Given the description of an element on the screen output the (x, y) to click on. 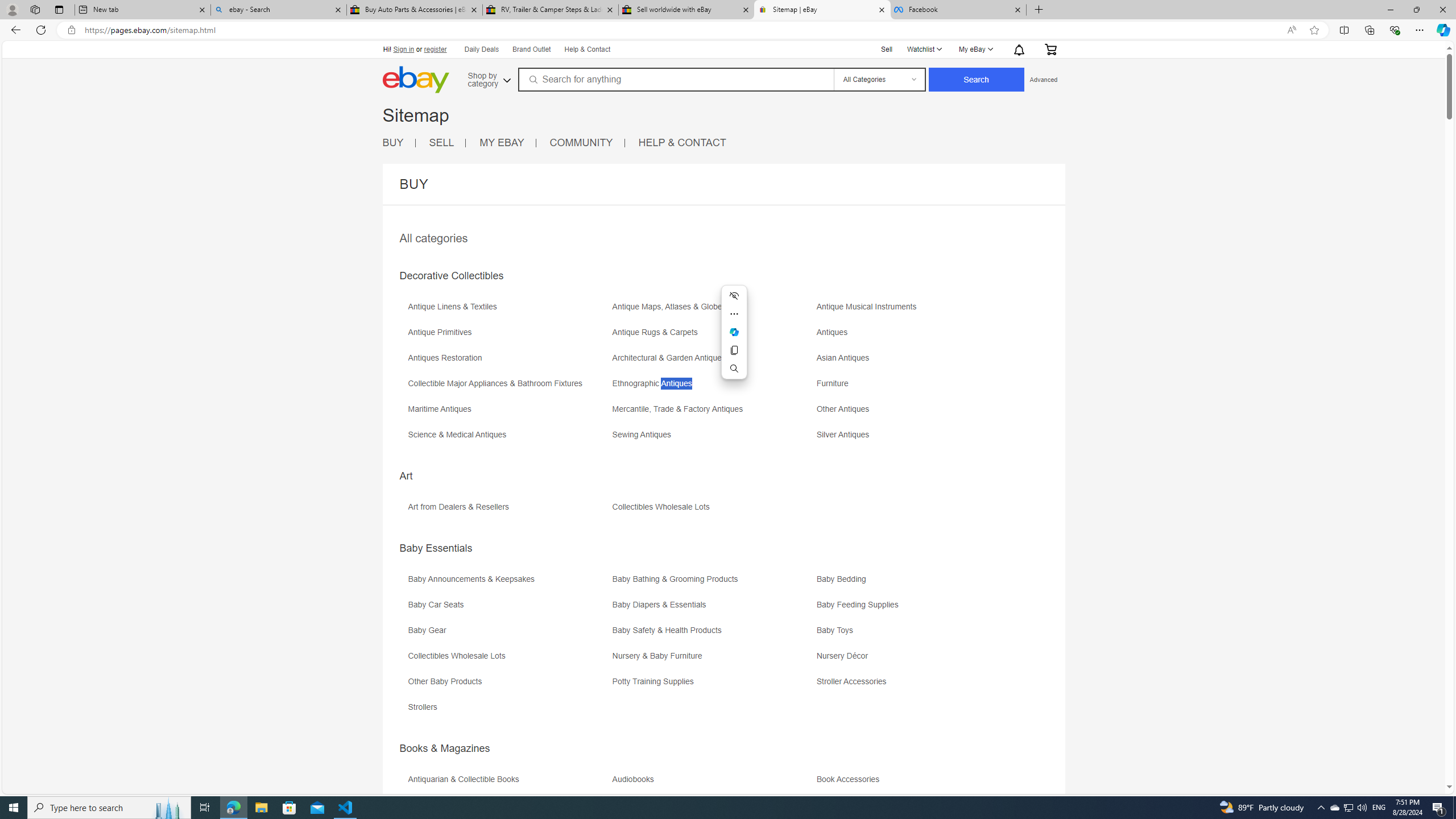
Art from Dealers & Resellers (508, 510)
eBay Logo (415, 79)
Baby Gear (429, 630)
Antique Rugs & Carpets (657, 332)
Science & Medical Antiques (508, 438)
Baby Feeding Supplies (860, 604)
Architectural & Garden Antiques (712, 361)
register (434, 49)
Help & Contact (587, 49)
Audiobooks (712, 783)
Help & Contact (586, 49)
SELL (441, 142)
SELL (447, 142)
Watchlist (923, 49)
